Given the description of an element on the screen output the (x, y) to click on. 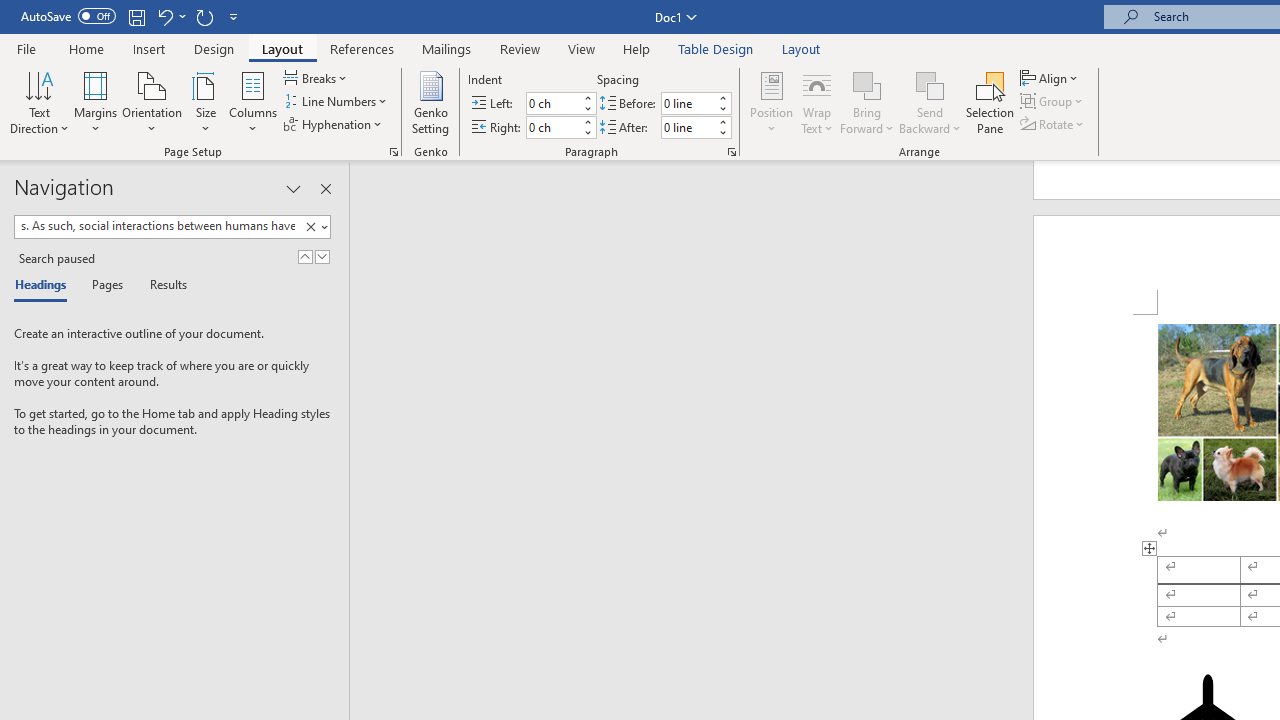
Wrap Text (817, 102)
Spacing Before (687, 103)
Clear (310, 227)
Rotate (1053, 124)
Breaks (317, 78)
Selection Pane... (990, 102)
Send Backward (930, 102)
Bring Forward (867, 102)
Group (1053, 101)
